Given the description of an element on the screen output the (x, y) to click on. 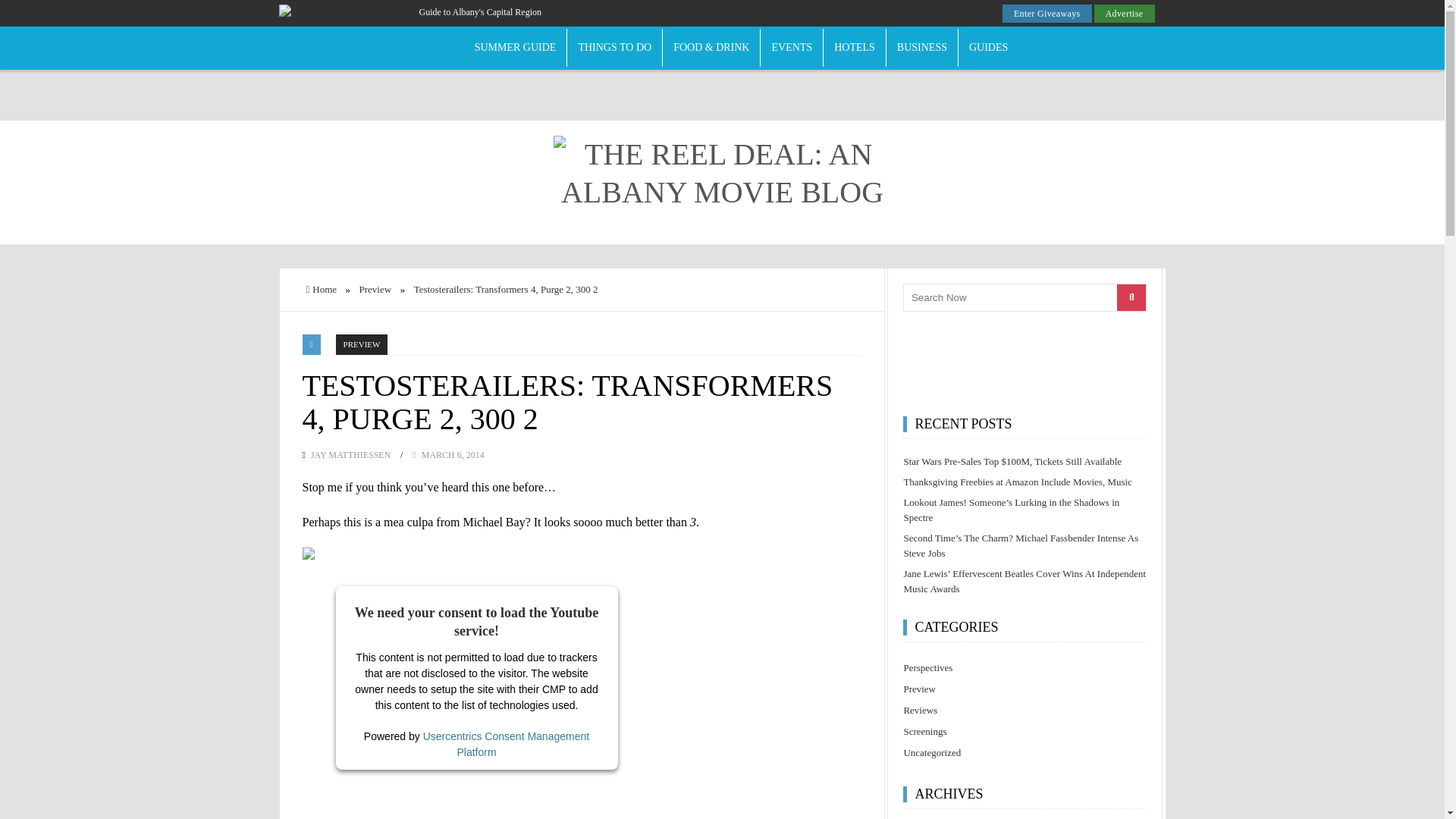
Advertise (1124, 13)
View all posts in Preview (362, 343)
THINGS TO DO (614, 47)
Enter Giveaways (1047, 13)
Posts by Jay Matthiessen (350, 453)
SUMMER GUIDE (515, 47)
